Given the description of an element on the screen output the (x, y) to click on. 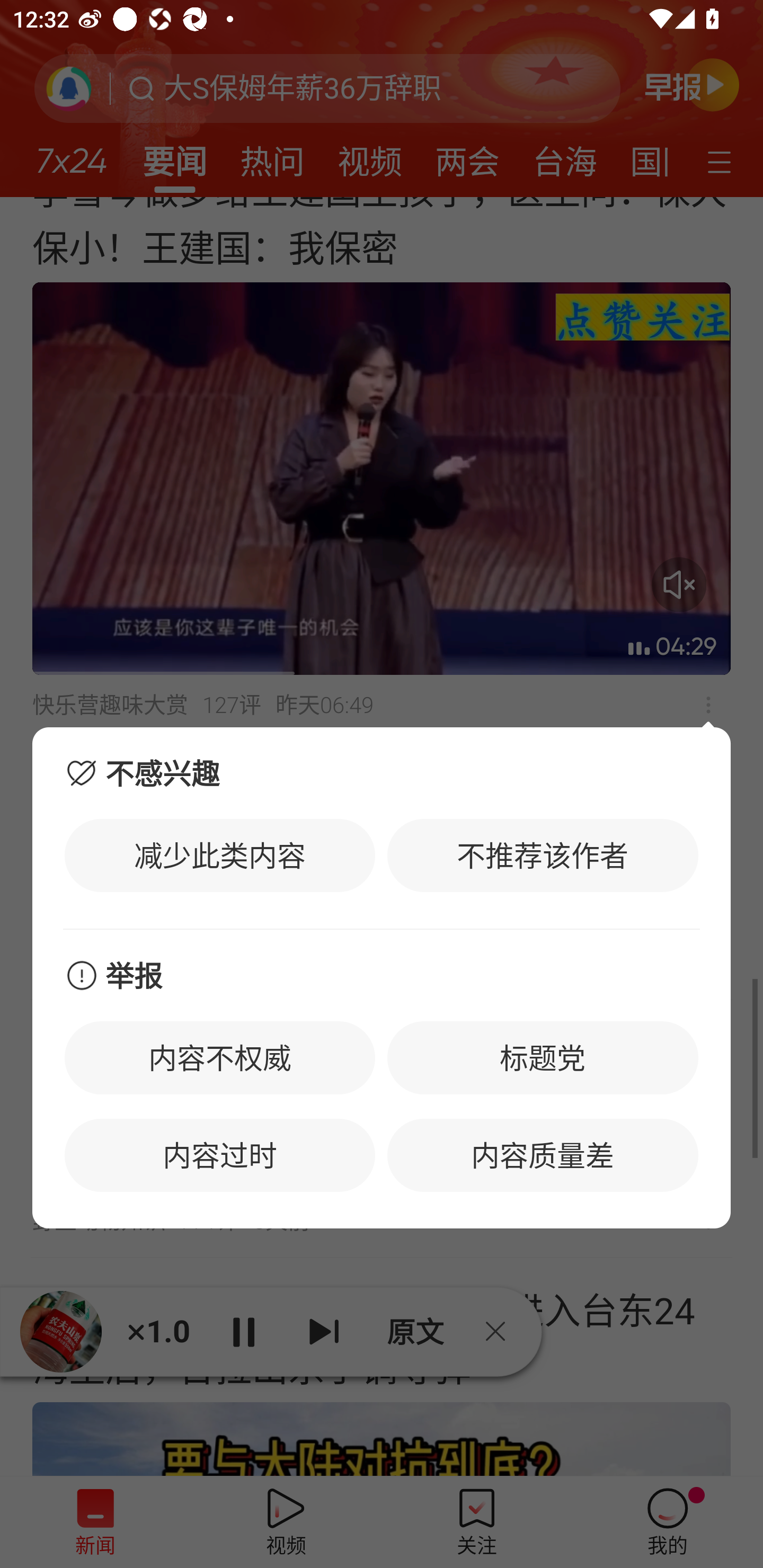
不感兴趣 减少此类内容 不推荐该作者 (381, 827)
减少此类内容 (219, 855)
不推荐该作者 (542, 855)
举报 内容不权威 标题党 内容过时 内容质量差 (381, 1078)
内容不权威 (219, 1057)
标题党 (542, 1057)
内容过时 (219, 1155)
内容质量差 (542, 1155)
